Given the description of an element on the screen output the (x, y) to click on. 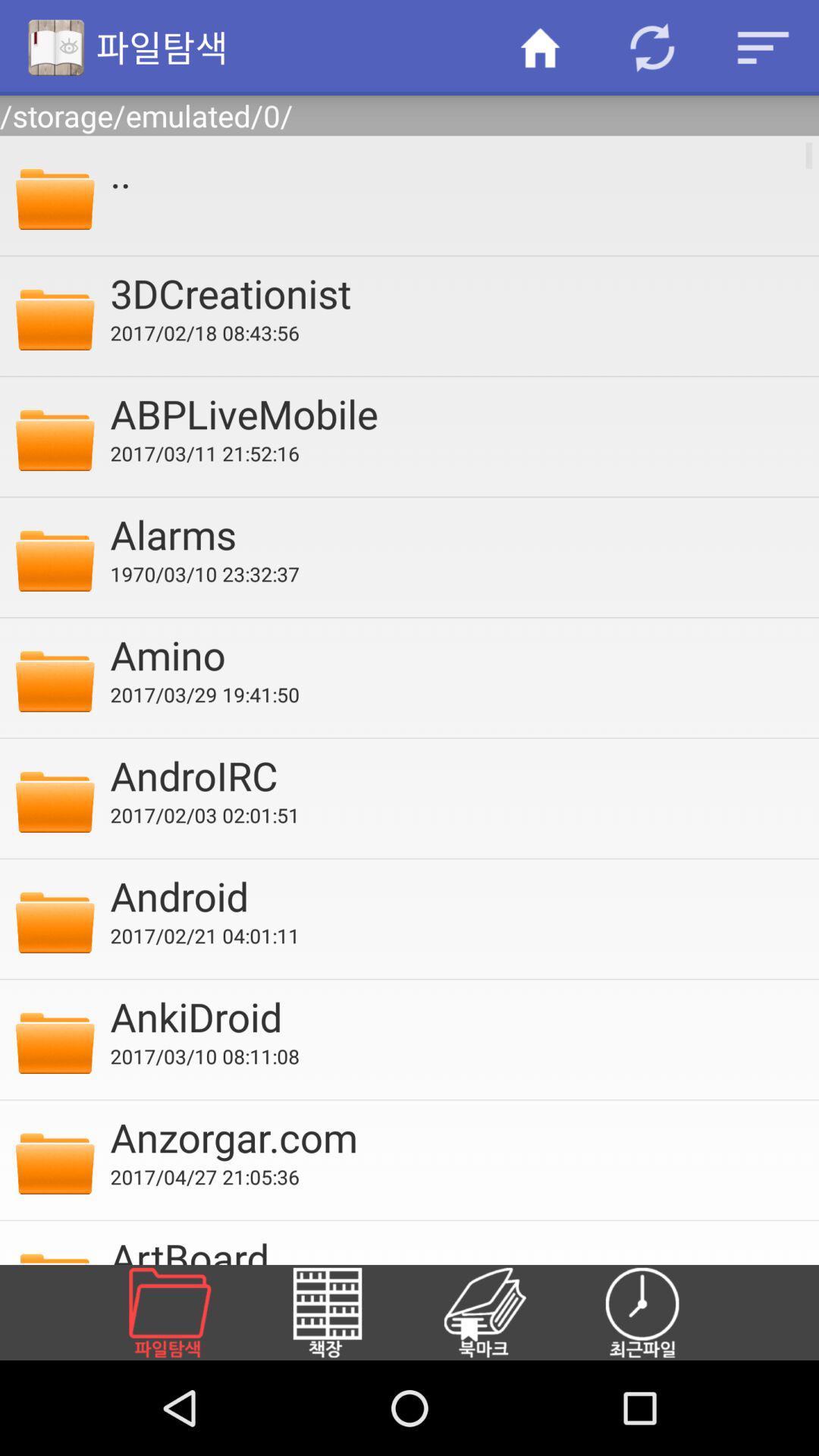
recent folders (660, 1312)
